Given the description of an element on the screen output the (x, y) to click on. 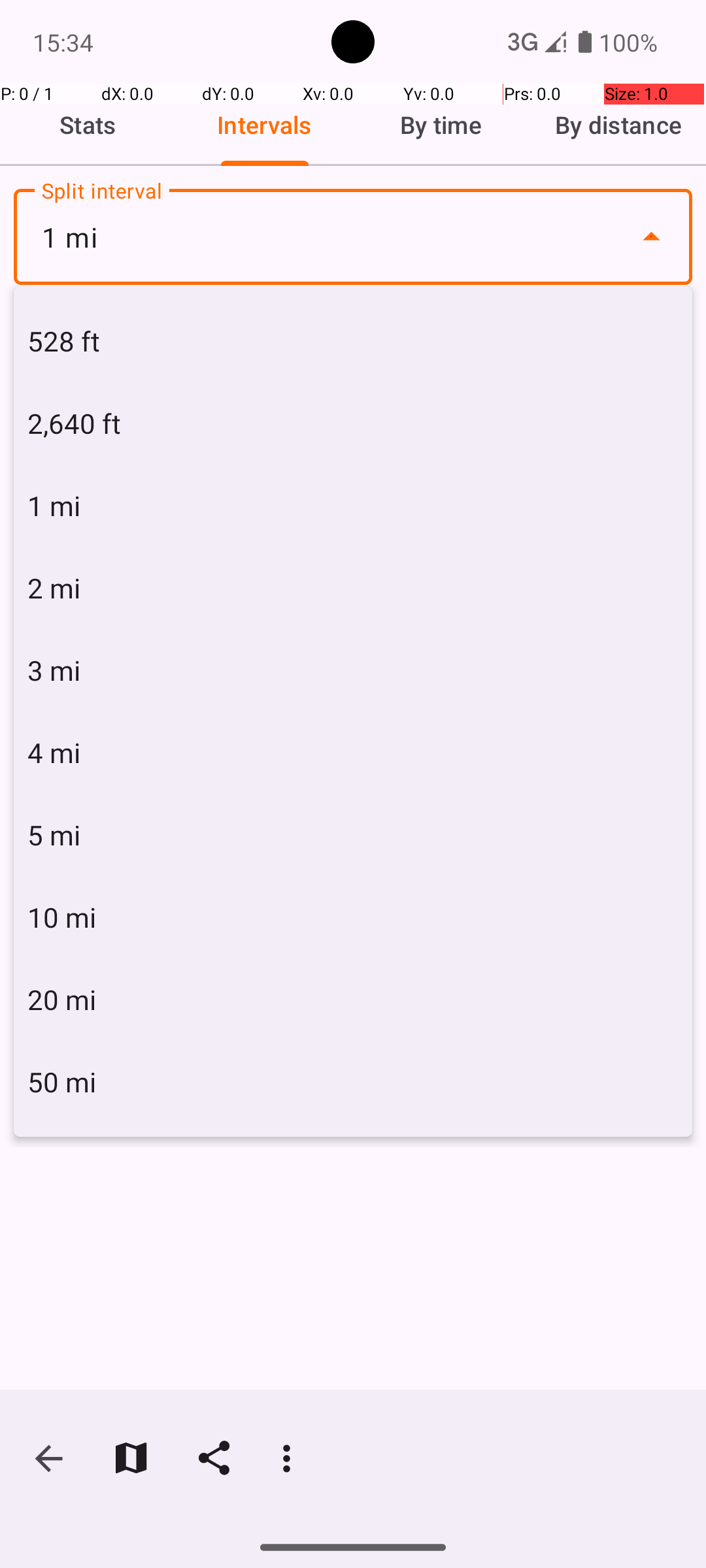
1 mi Element type: android.widget.Spinner (352, 236)
DISTANCE Element type: android.widget.TextView (126, 328)
SPEED Element type: android.widget.TextView (352, 328)
ELEVATION Element type: android.widget.TextView (579, 328)
0.00 ft Element type: android.widget.TextView (135, 408)
0.0 mph Element type: android.widget.TextView (352, 408)
- ft Element type: android.widget.TextView (569, 388)
528 ft Element type: android.widget.CheckedTextView (352, 340)
2,640 ft Element type: android.widget.CheckedTextView (352, 423)
2 mi Element type: android.widget.CheckedTextView (352, 587)
3 mi Element type: android.widget.CheckedTextView (352, 670)
4 mi Element type: android.widget.CheckedTextView (352, 752)
5 mi Element type: android.widget.CheckedTextView (352, 834)
10 mi Element type: android.widget.CheckedTextView (352, 917)
20 mi Element type: android.widget.CheckedTextView (352, 999)
50 mi Element type: android.widget.CheckedTextView (352, 1081)
